Given the description of an element on the screen output the (x, y) to click on. 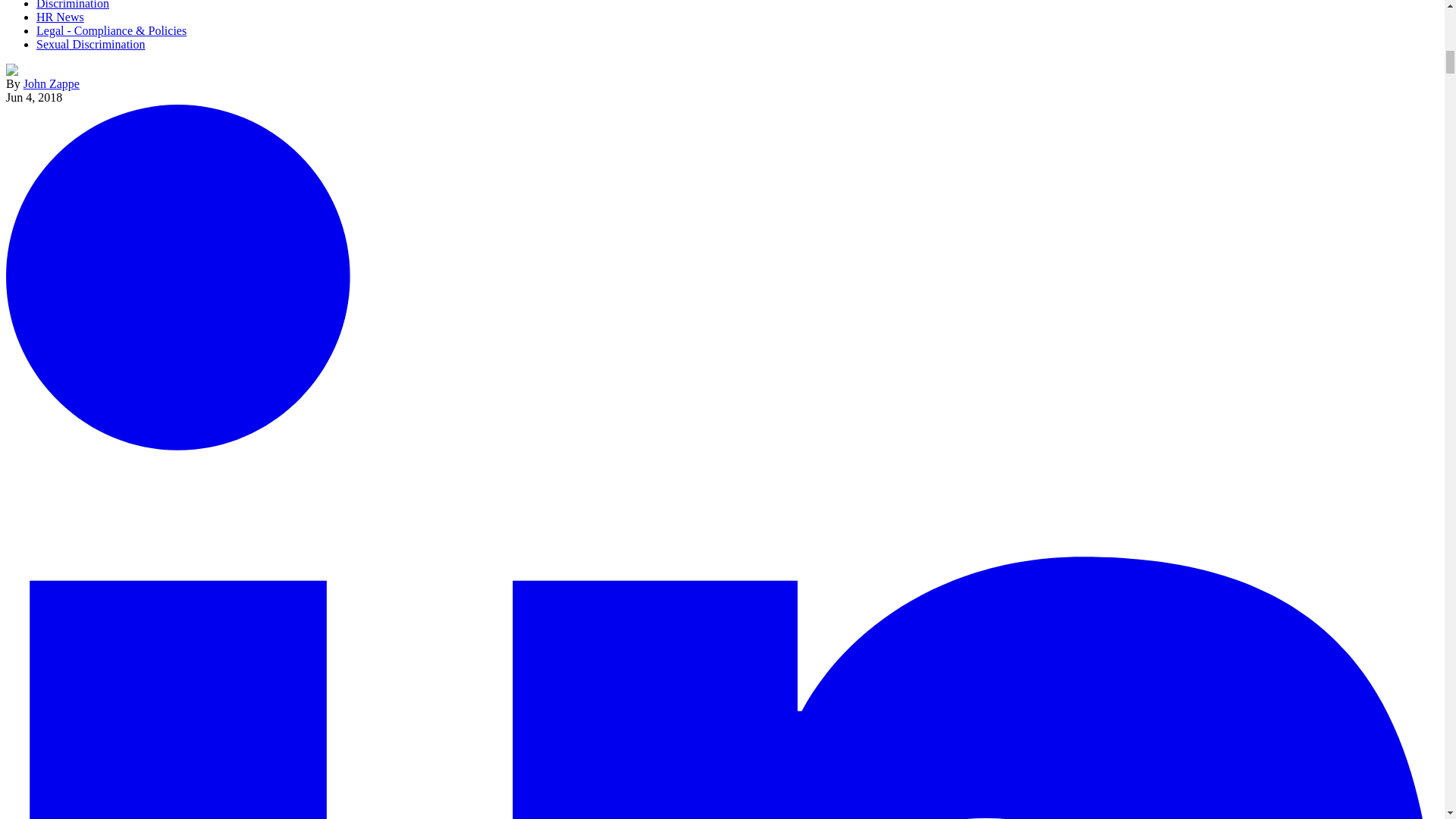
Discrimination (72, 4)
HR News (60, 16)
John Zappe (51, 83)
Sexual Discrimination (90, 43)
